Given the description of an element on the screen output the (x, y) to click on. 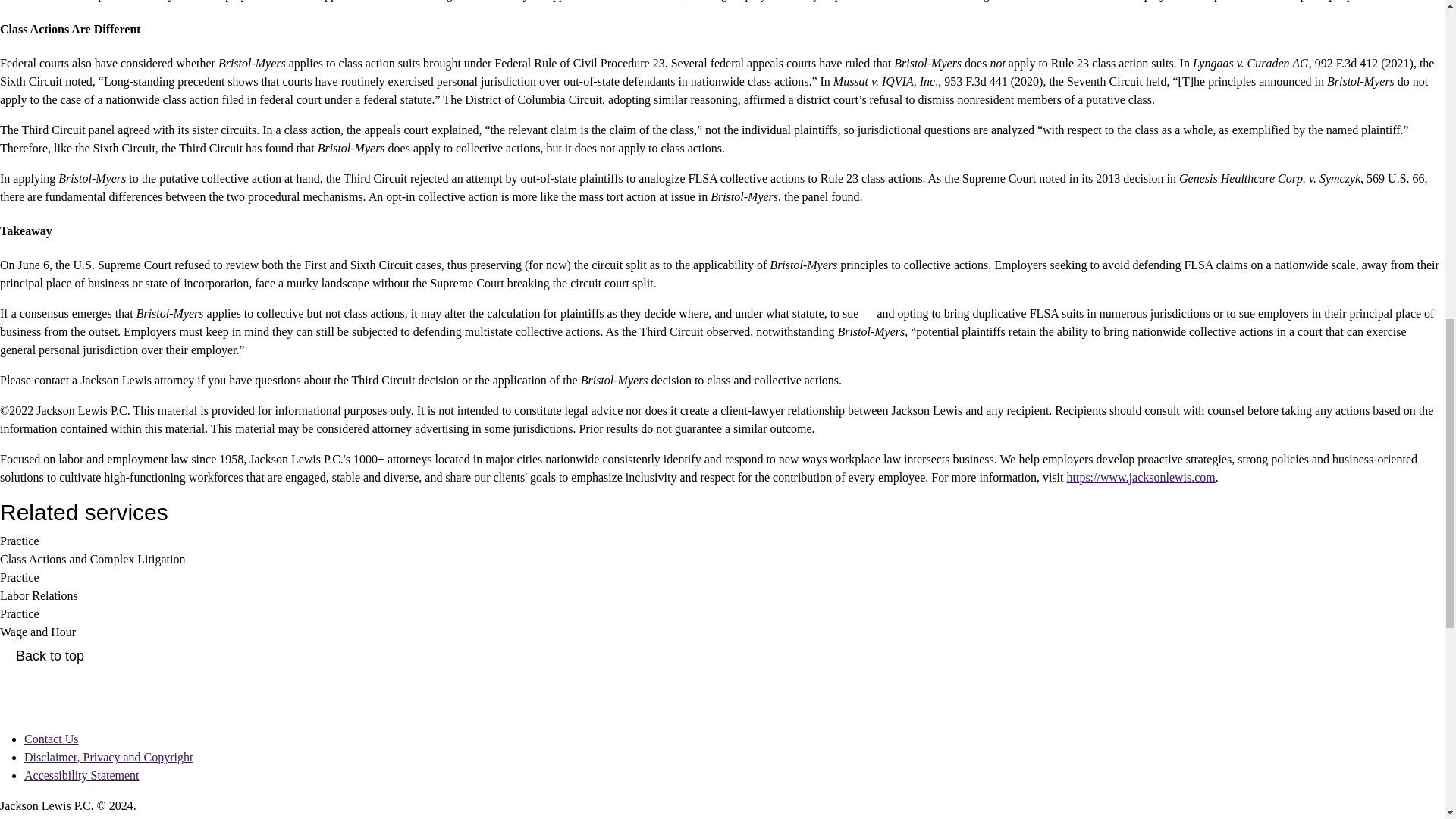
Accessibility Statement (81, 775)
Disclaimer, Privacy and Copyright (108, 757)
Contact Us (51, 738)
